Given the description of an element on the screen output the (x, y) to click on. 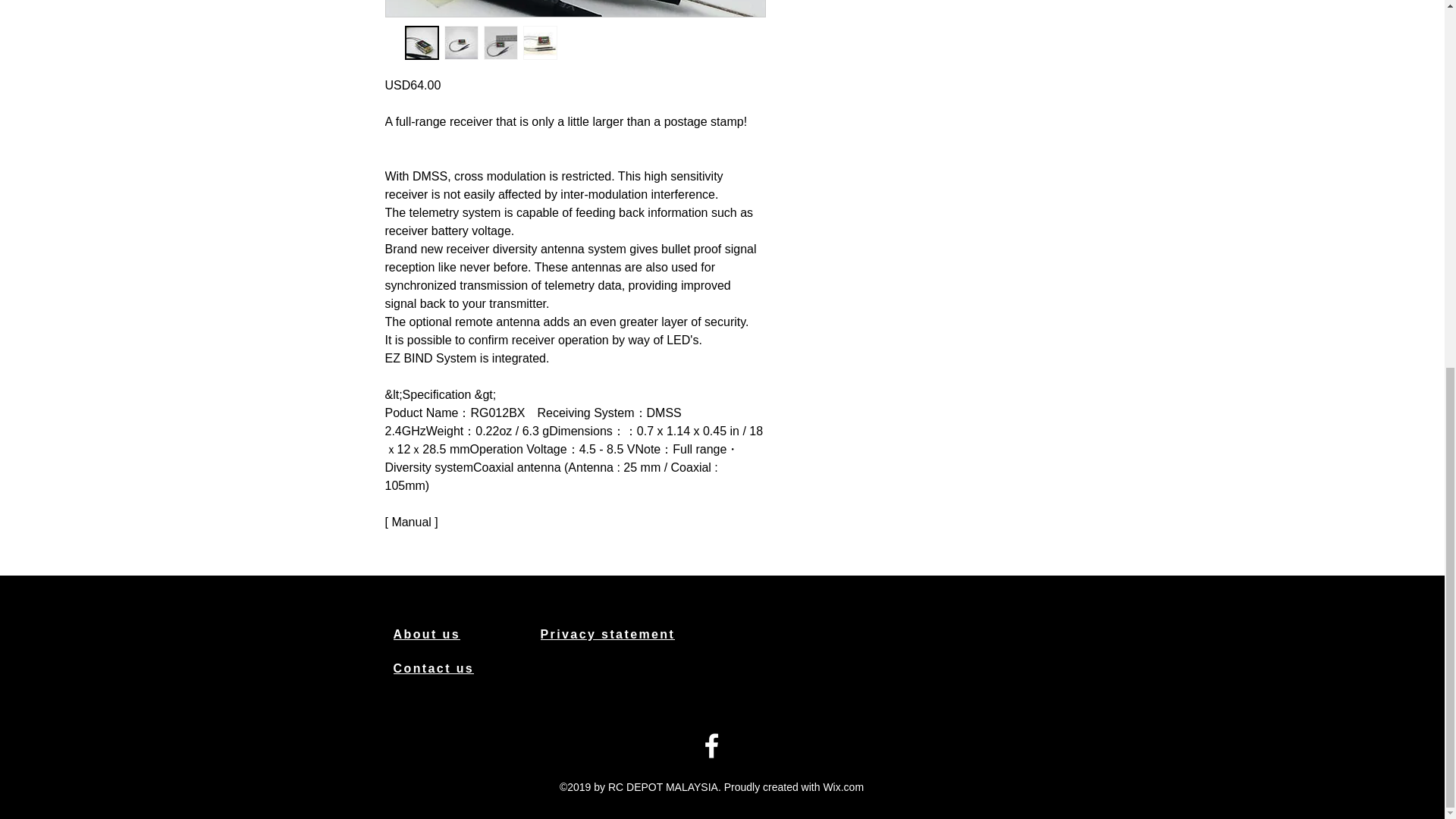
About us (447, 634)
Contact us (447, 668)
Privacy statement (622, 634)
